Given the description of an element on the screen output the (x, y) to click on. 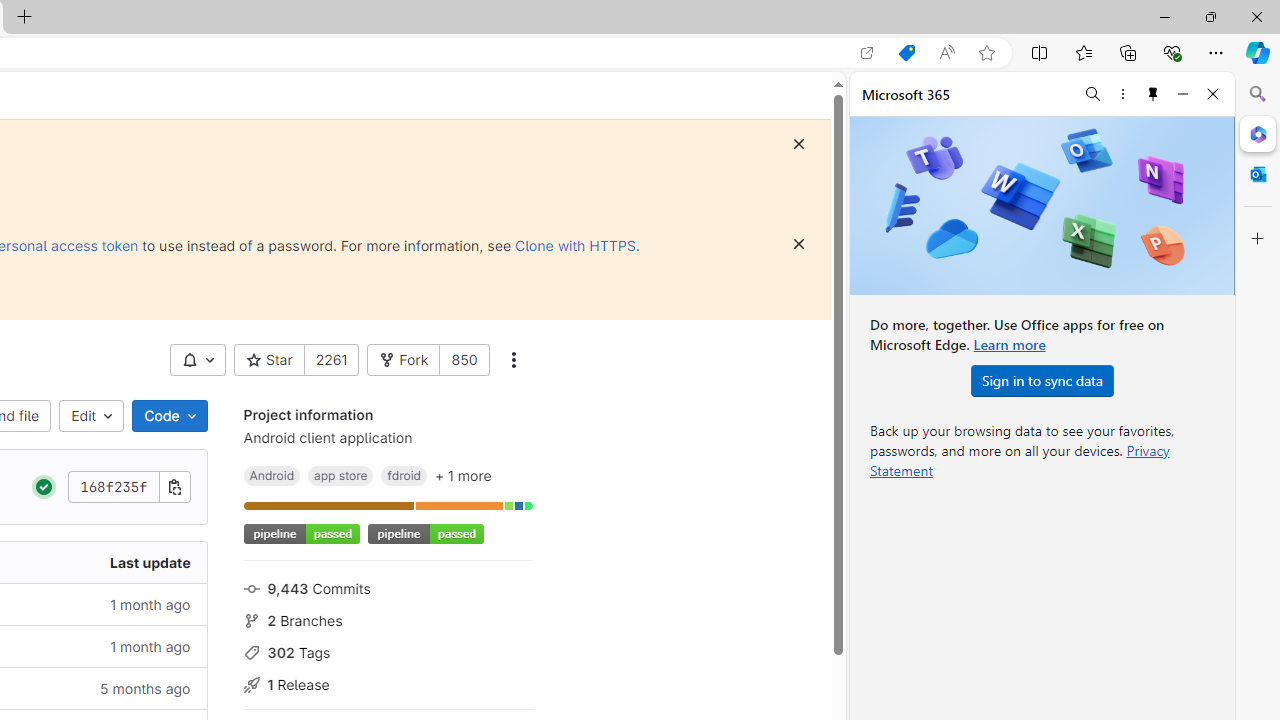
Unpin side pane (1153, 93)
Copy commit SHA (173, 486)
Project badge (425, 534)
850 (464, 359)
